Given the description of an element on the screen output the (x, y) to click on. 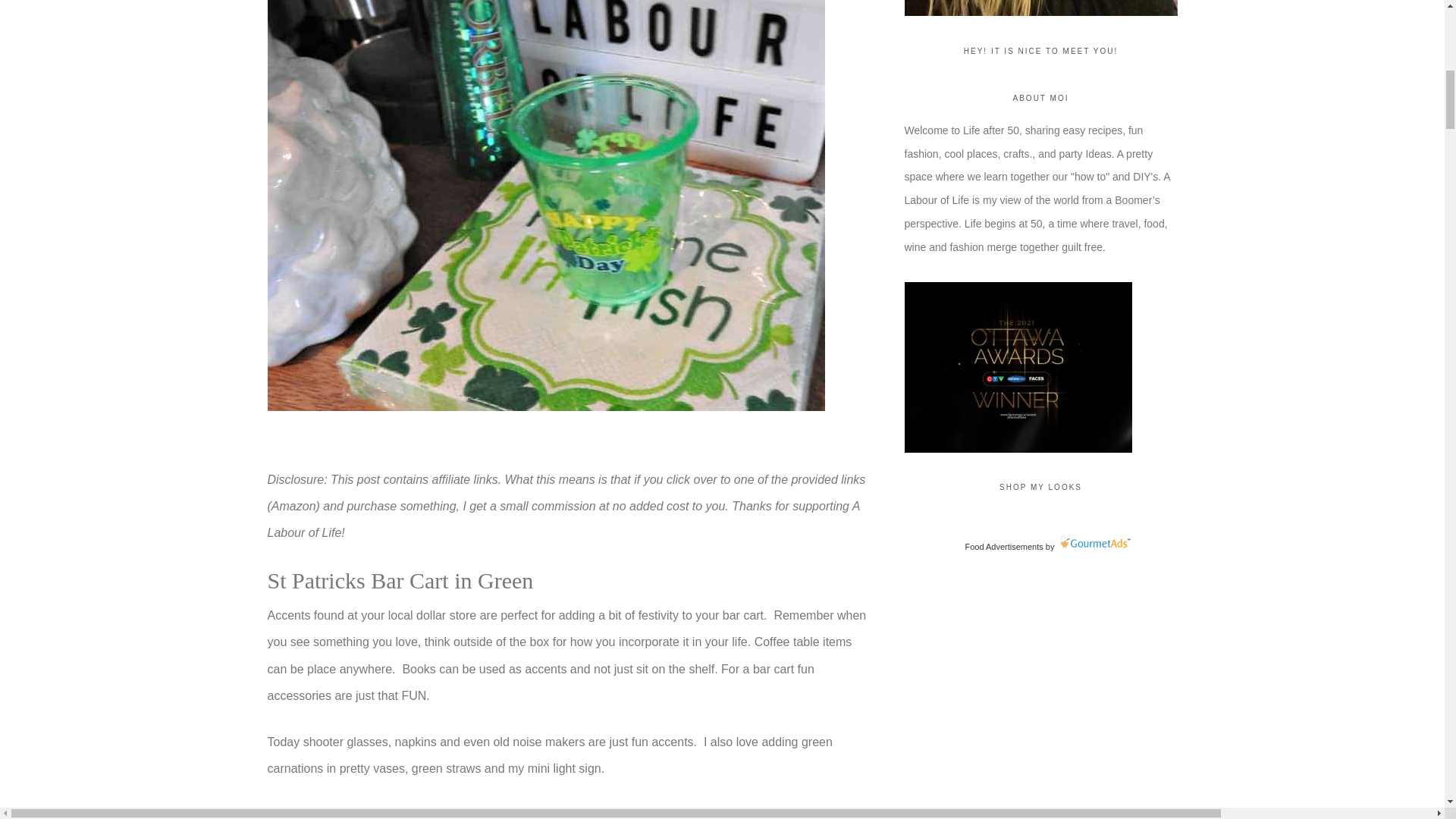
Food Advertisements (1002, 546)
